Given the description of an element on the screen output the (x, y) to click on. 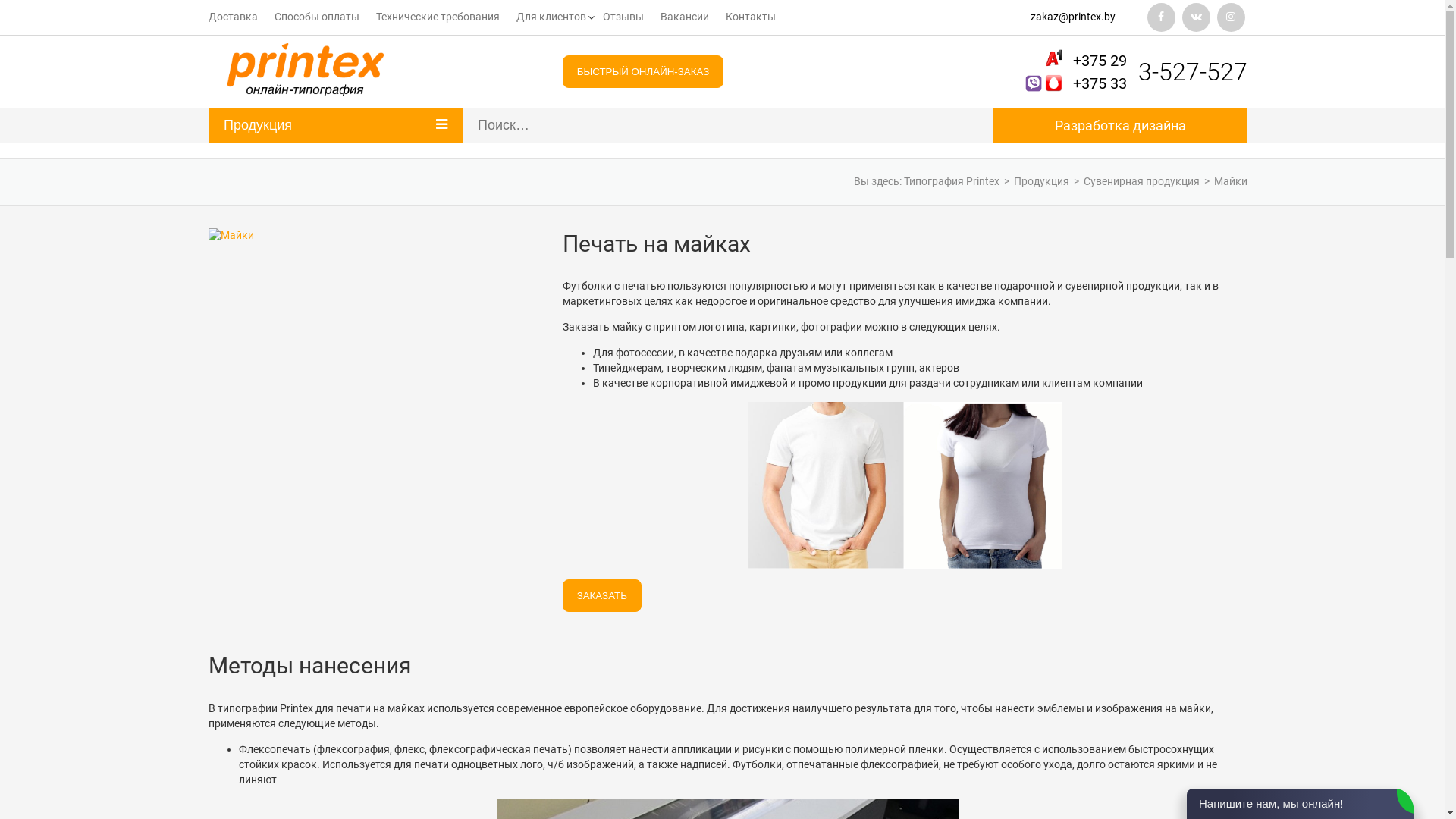
3-527-527 Element type: text (1192, 72)
+375 29 Element type: text (1099, 60)
+375 33 Element type: text (1099, 83)
zakaz@printex.by Element type: text (1076, 17)
